Given the description of an element on the screen output the (x, y) to click on. 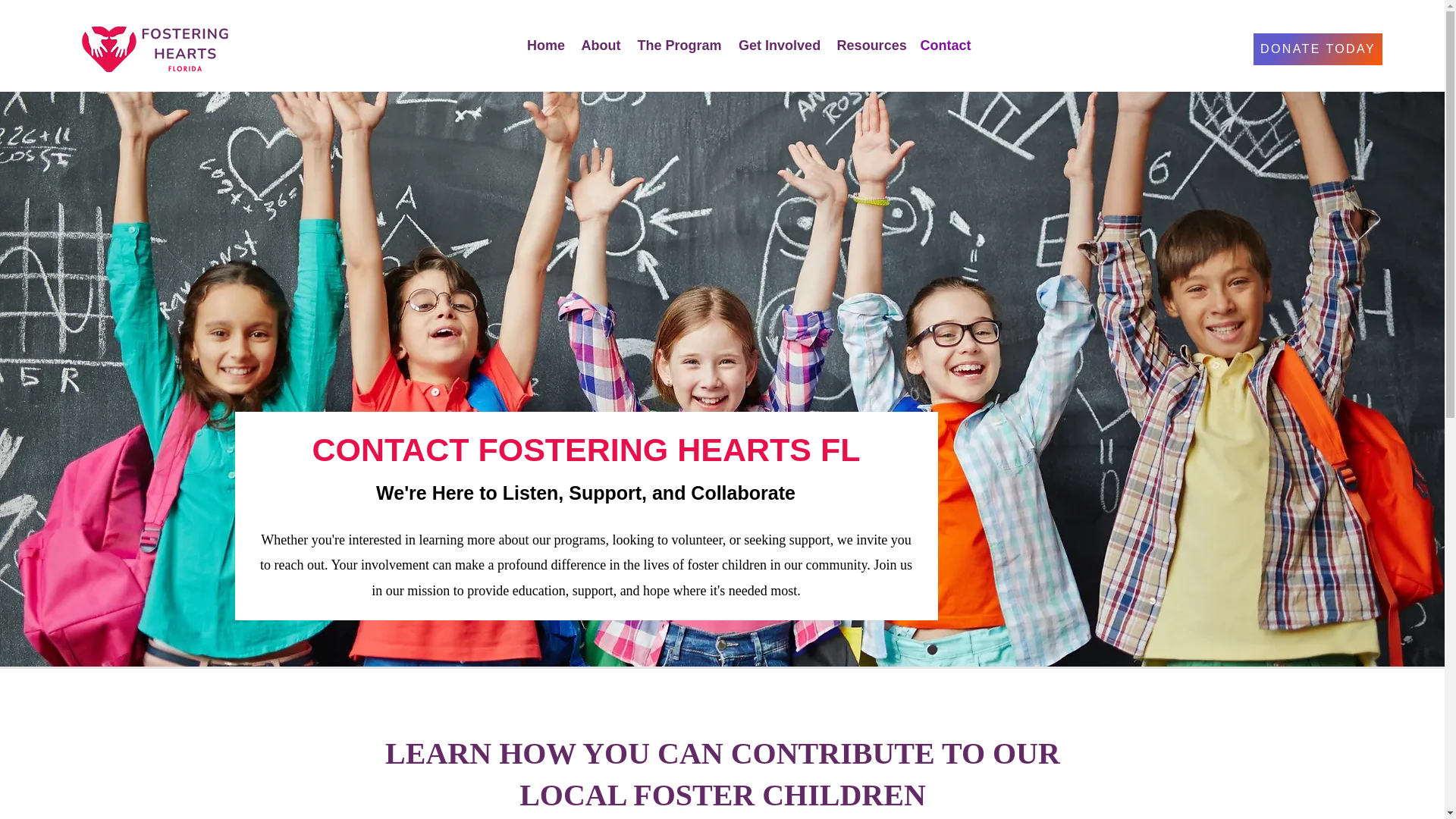
The Program (679, 44)
Home (546, 44)
Resources (870, 44)
Get Involved (779, 44)
Contact (945, 44)
FOSTERING HEARTS - Logo Long.webp (155, 49)
About (600, 44)
DONATE TODAY (1317, 49)
